Given the description of an element on the screen output the (x, y) to click on. 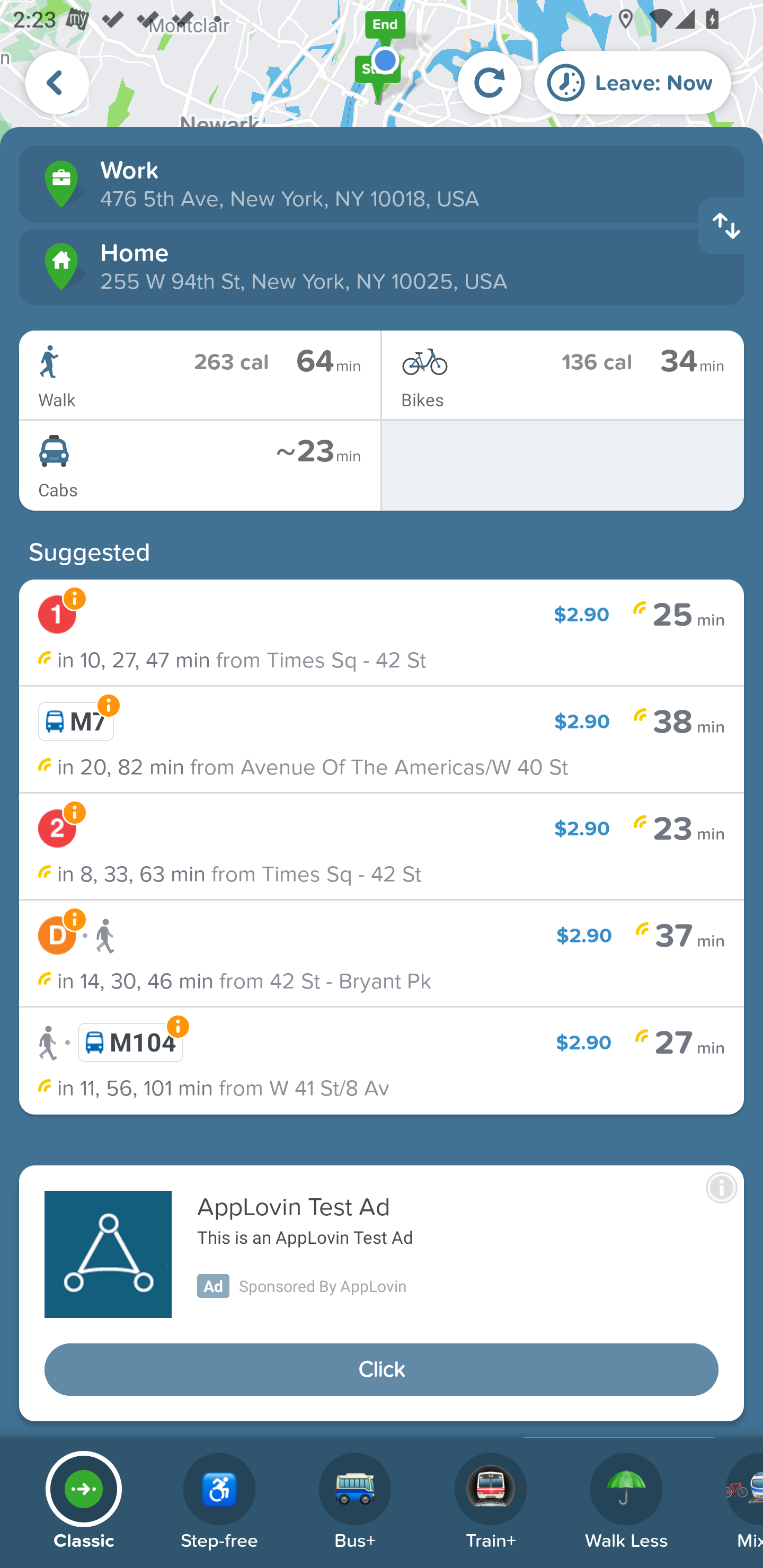
Leave: Now (632, 81)
